Given the description of an element on the screen output the (x, y) to click on. 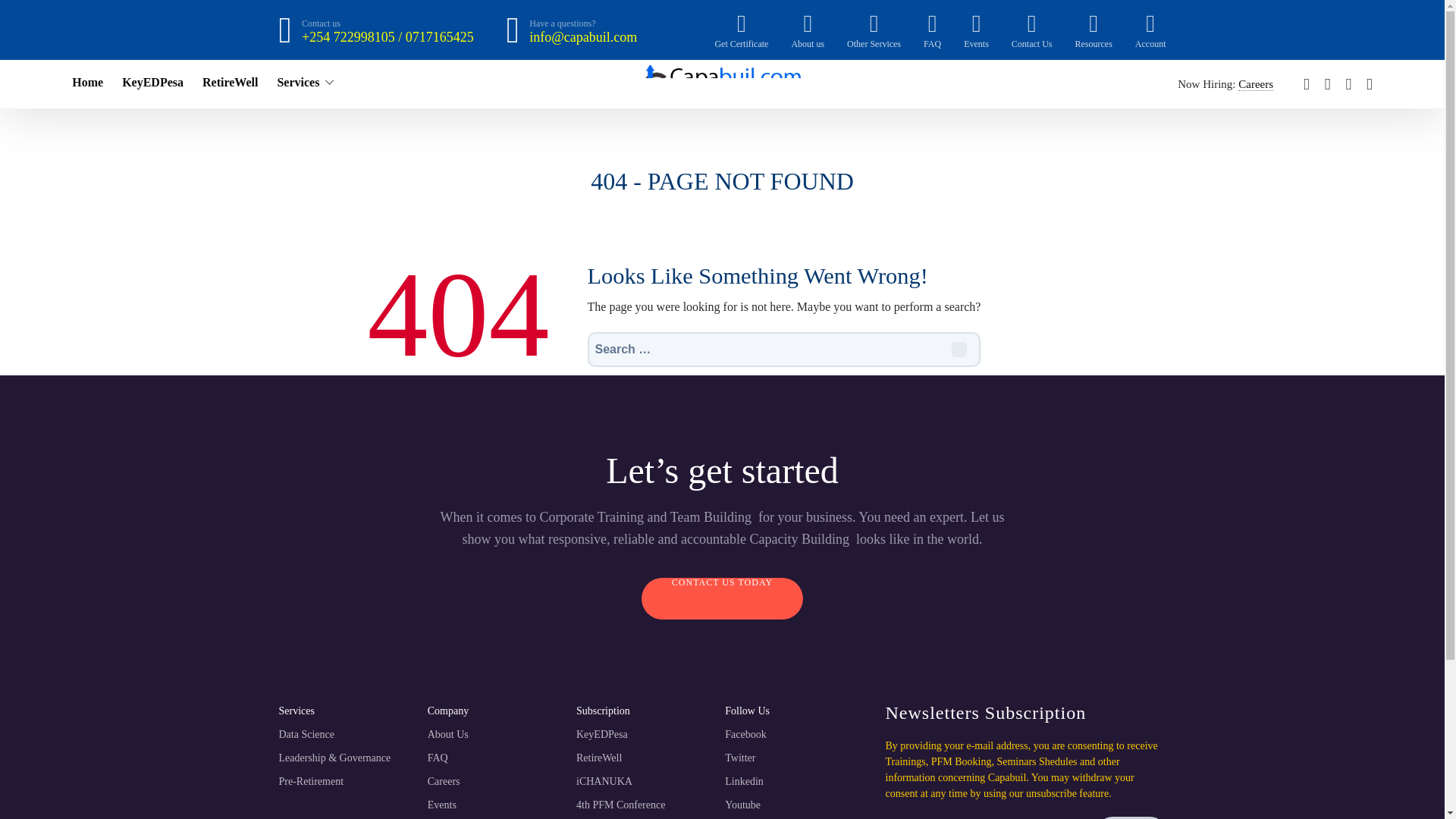
RetireWell (229, 82)
Get Certificate (741, 29)
Search (959, 349)
Search (959, 349)
Careers (1255, 83)
SUBSCRIBE (1131, 817)
Services (297, 82)
Other Services (874, 29)
KeyEDPesa (152, 82)
